Given the description of an element on the screen output the (x, y) to click on. 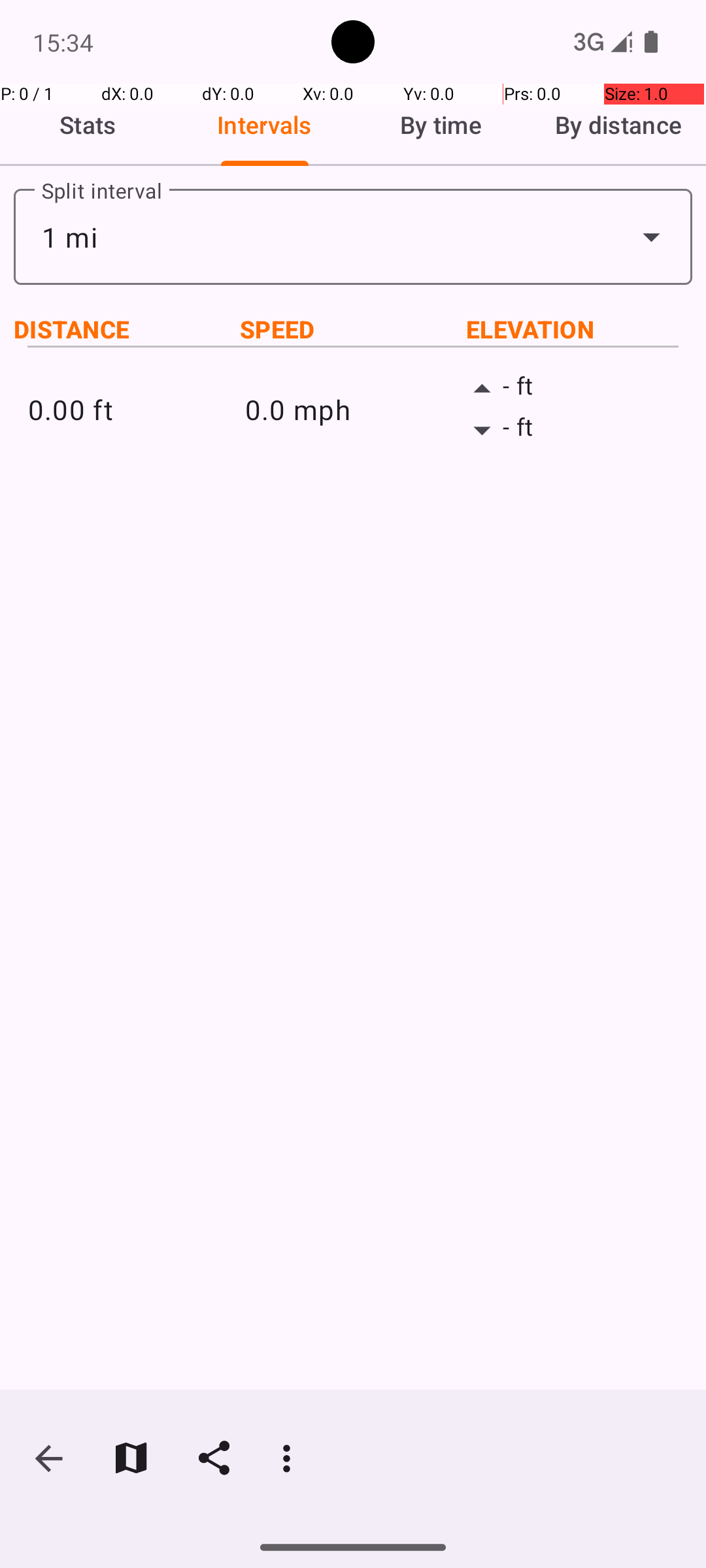
Stats Element type: android.widget.LinearLayout (88, 124)
Intervals Element type: android.widget.LinearLayout (264, 124)
By time Element type: android.widget.LinearLayout (441, 124)
By distance Element type: android.widget.LinearLayout (617, 124)
Show on map Element type: android.widget.Button (130, 1458)
1 mi Element type: android.widget.Spinner (352, 236)
DISTANCE Element type: android.widget.TextView (126, 328)
SPEED Element type: android.widget.TextView (352, 328)
ELEVATION Element type: android.widget.TextView (579, 328)
0.00 ft Element type: android.widget.TextView (135, 408)
0.0 mph Element type: android.widget.TextView (352, 408)
- ft Element type: android.widget.TextView (569, 388)
